Given the description of an element on the screen output the (x, y) to click on. 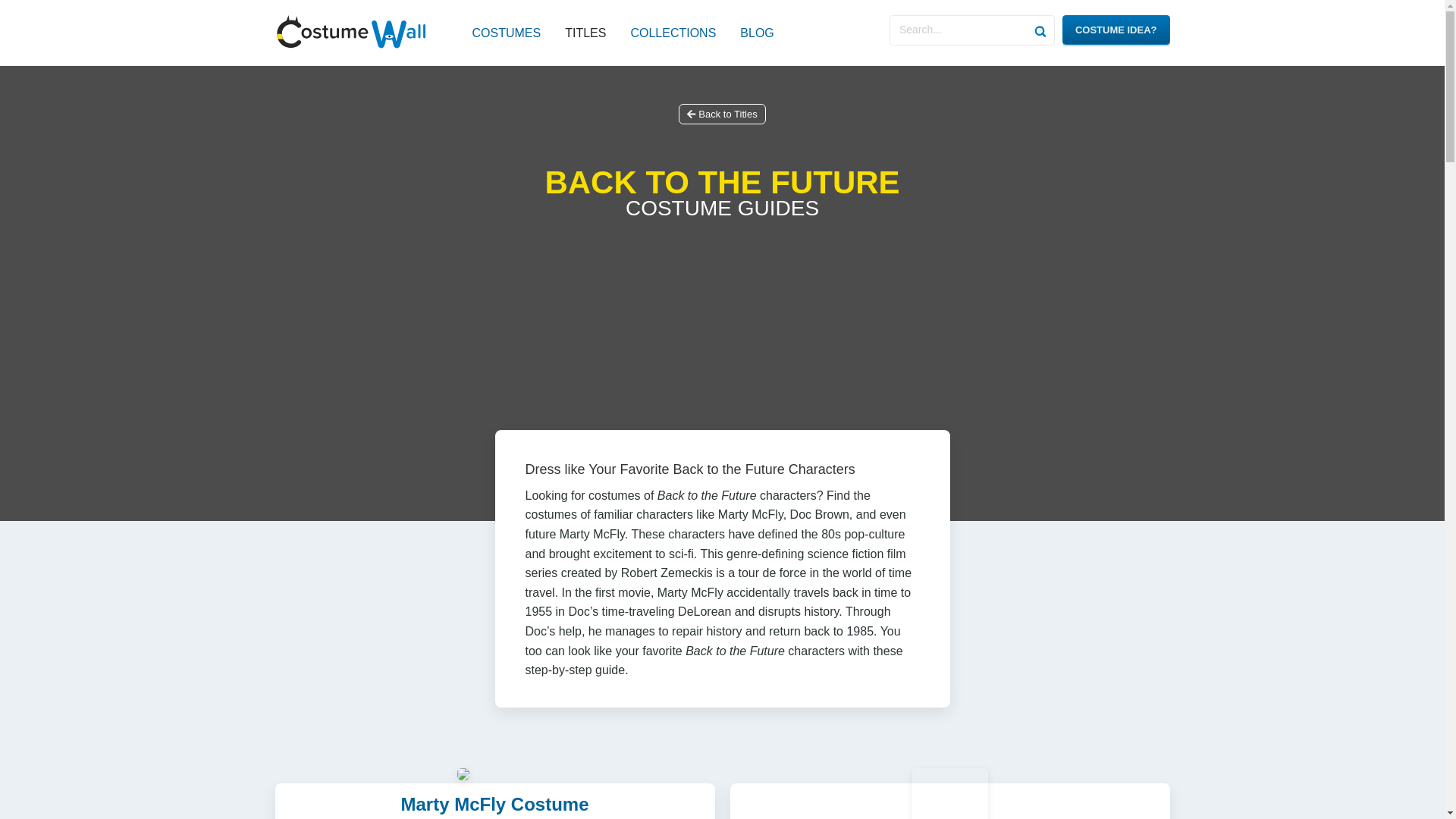
COLLECTIONS (673, 33)
Costume Wall Blog (756, 33)
COSTUMES (505, 33)
Back to Titles (721, 114)
 Costume Guide (494, 803)
TITLES (584, 33)
BLOG (756, 33)
Costume Collections (673, 33)
Titles (584, 33)
Costume Wall (350, 31)
